Given the description of an element on the screen output the (x, y) to click on. 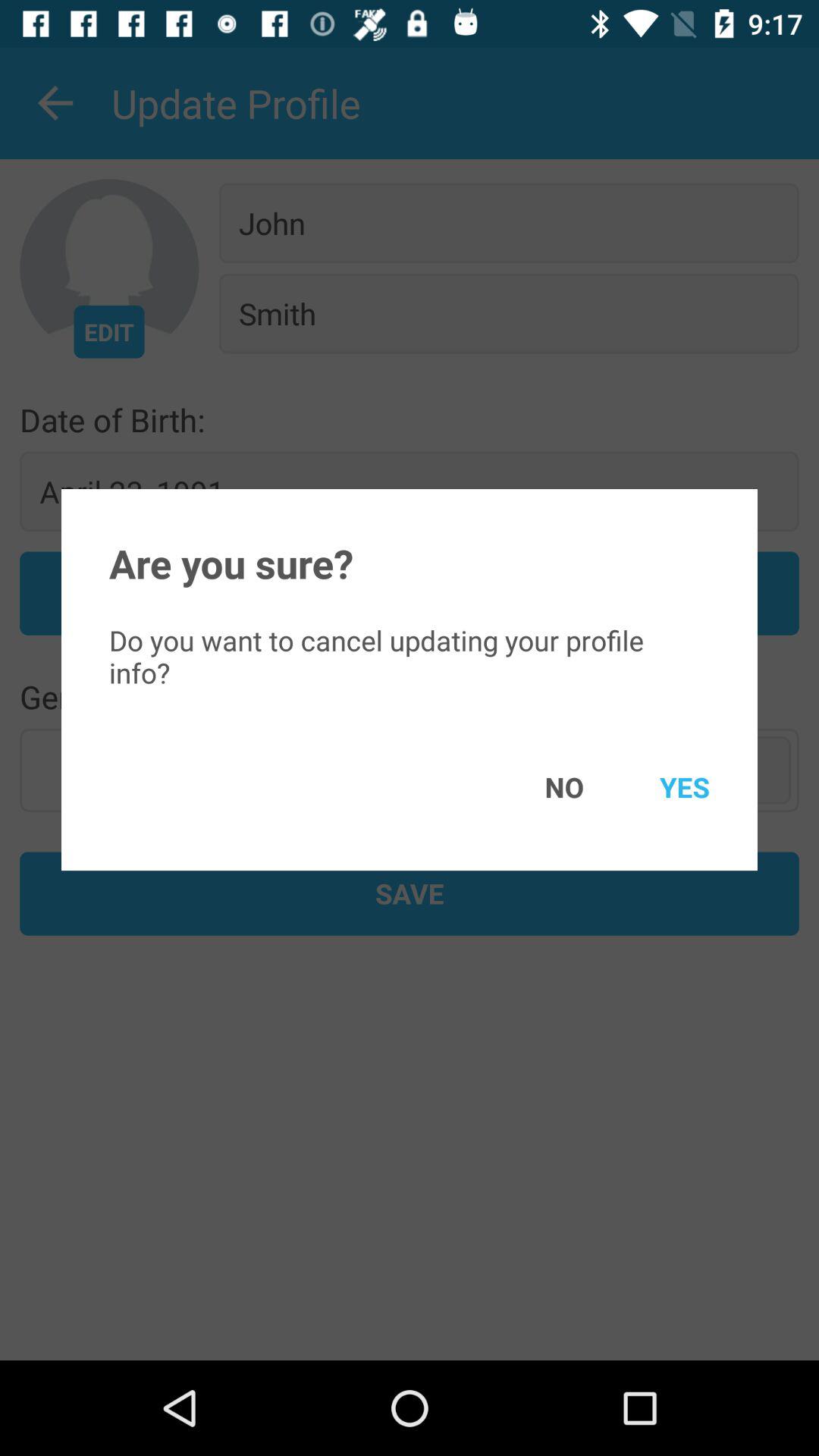
launch icon to the left of yes icon (542, 786)
